Given the description of an element on the screen output the (x, y) to click on. 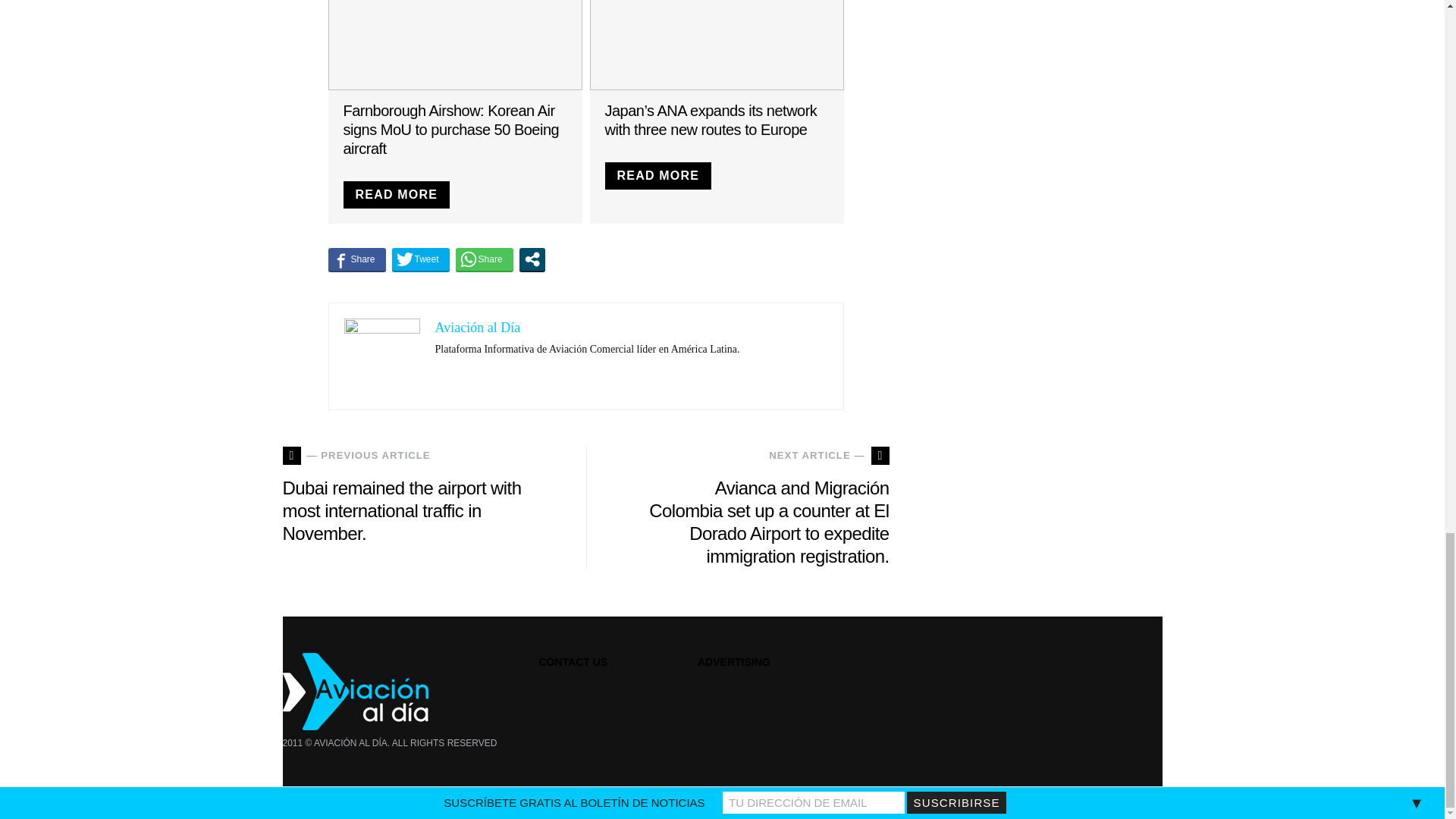
Tweet (420, 259)
Share on WhatsApp (484, 259)
Open modal social networks (531, 259)
Share on Facebook (356, 259)
